Given the description of an element on the screen output the (x, y) to click on. 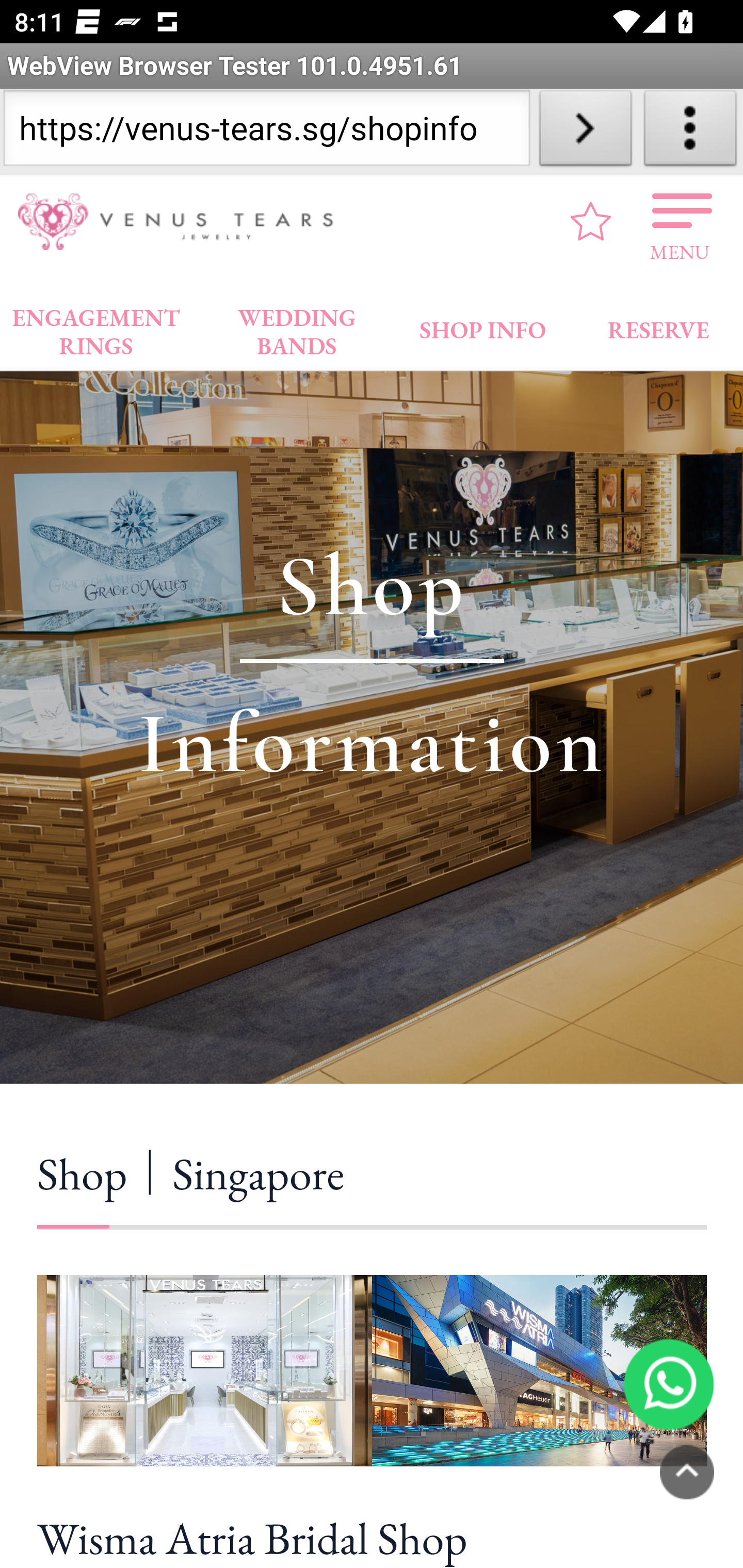
https://venus-tears.sg/shopinfo (266, 132)
Load URL (585, 132)
About WebView (690, 132)
favourite (591, 220)
MENU (680, 220)
VENUS TEARS (181, 221)
ENGAGEMENT RINGS ENGAGEMENT RINGS (96, 326)
WEDDING BANDS WEDDING BANDS (296, 326)
SHOP INFO (482, 325)
RESERVE (657, 325)
6585184875 (668, 1383)
PAGETOP (686, 1472)
Wisma Atria Bridal Shop (372, 1535)
